Given the description of an element on the screen output the (x, y) to click on. 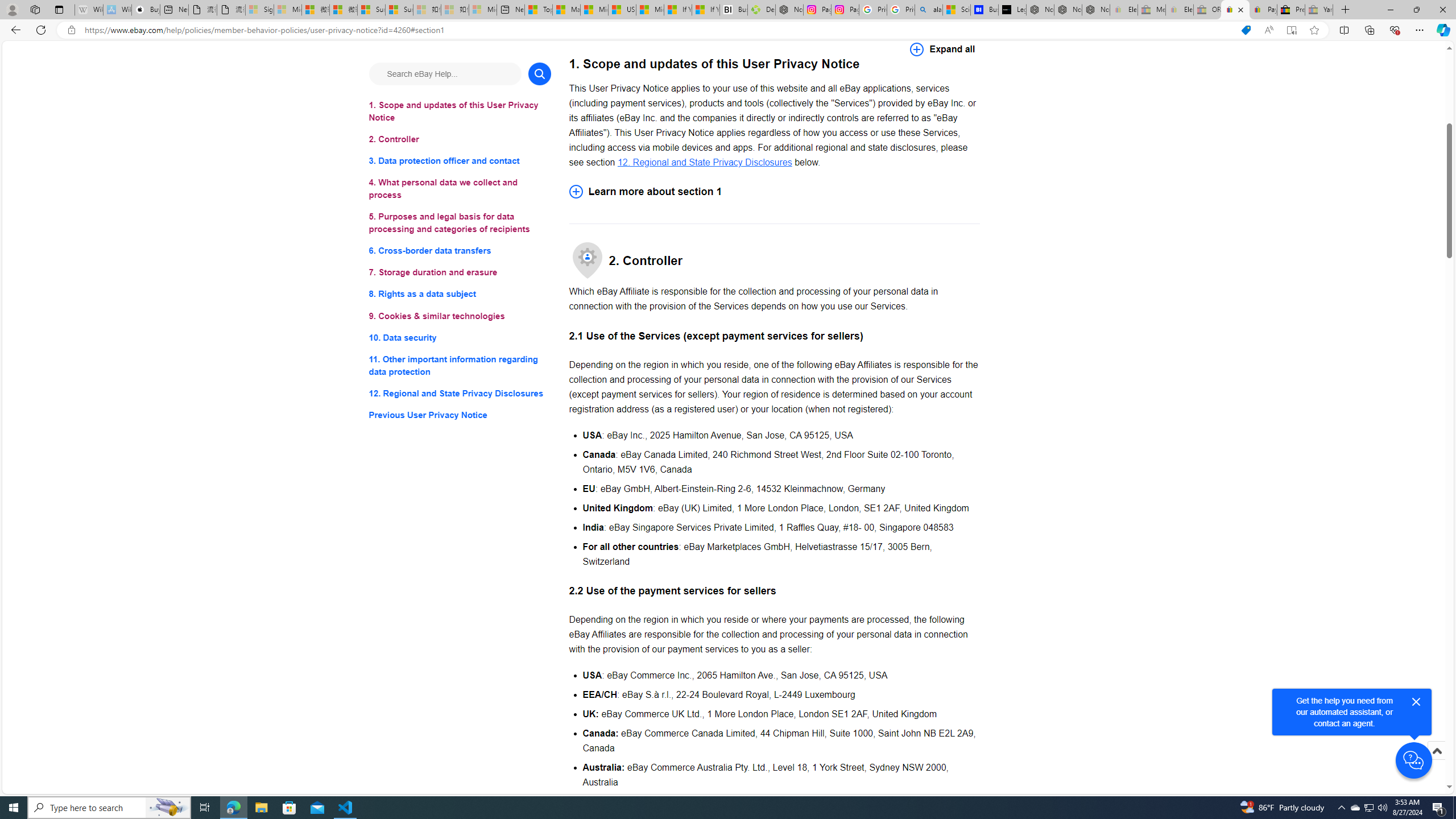
9. Cookies & similar technologies (459, 315)
8. Rights as a data subject (459, 293)
9. Cookies & similar technologies (459, 315)
Previous User Privacy Notice (459, 414)
Previous User Privacy Notice (459, 414)
